Given the description of an element on the screen output the (x, y) to click on. 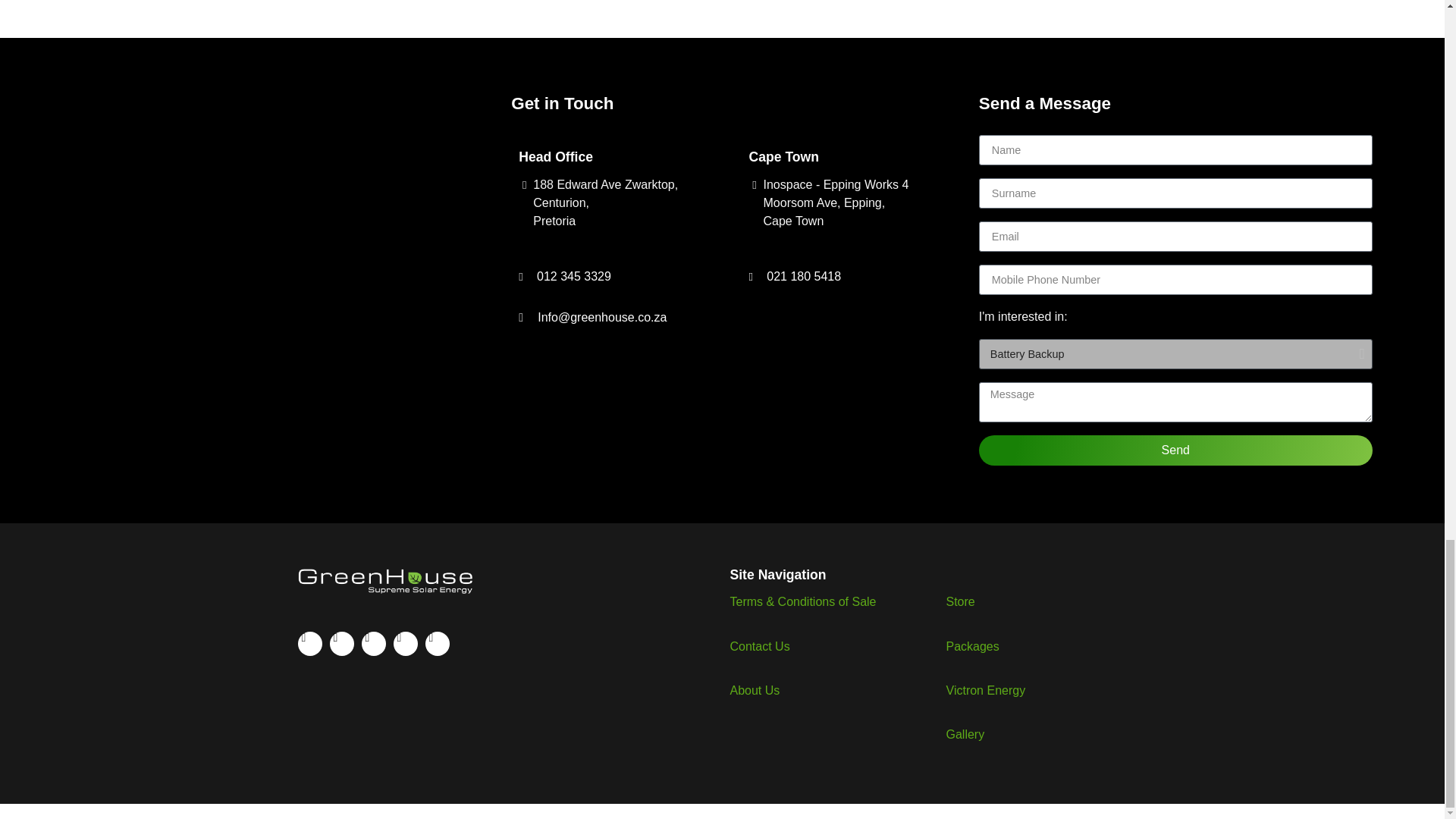
Send (1175, 450)
012 345 3329 (614, 276)
Victron Energy (986, 689)
021 180 5418 (844, 276)
About Us (753, 689)
Store (960, 601)
Contact Us (759, 645)
Packages (972, 645)
